Given the description of an element on the screen output the (x, y) to click on. 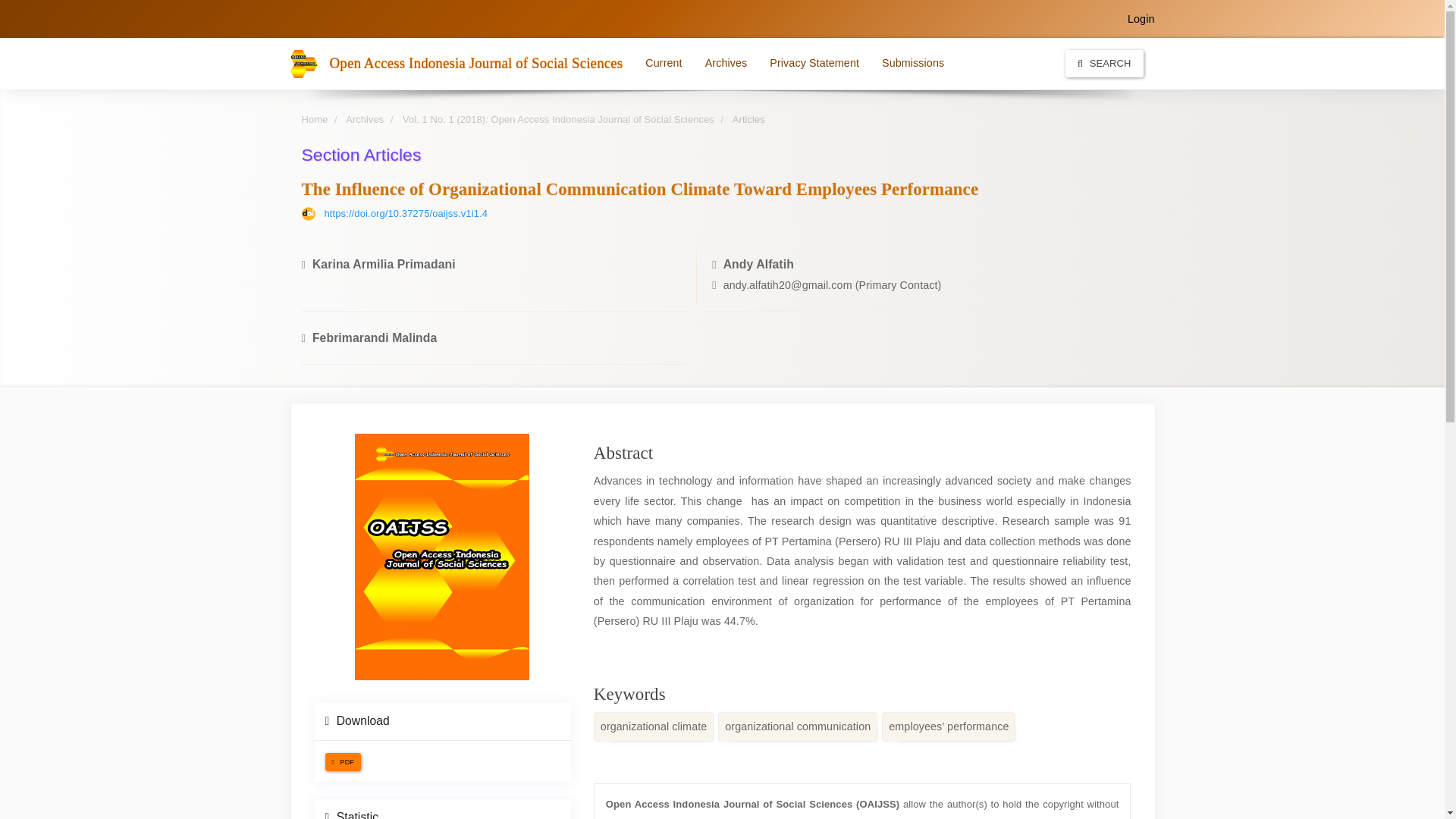
Archives (365, 119)
SEARCH (1103, 62)
Current (663, 62)
Submissions (912, 62)
Privacy Statement (814, 62)
PDF (342, 761)
SEARCH (1103, 62)
Login (1141, 18)
Home (315, 119)
Archives (726, 62)
